Given the description of an element on the screen output the (x, y) to click on. 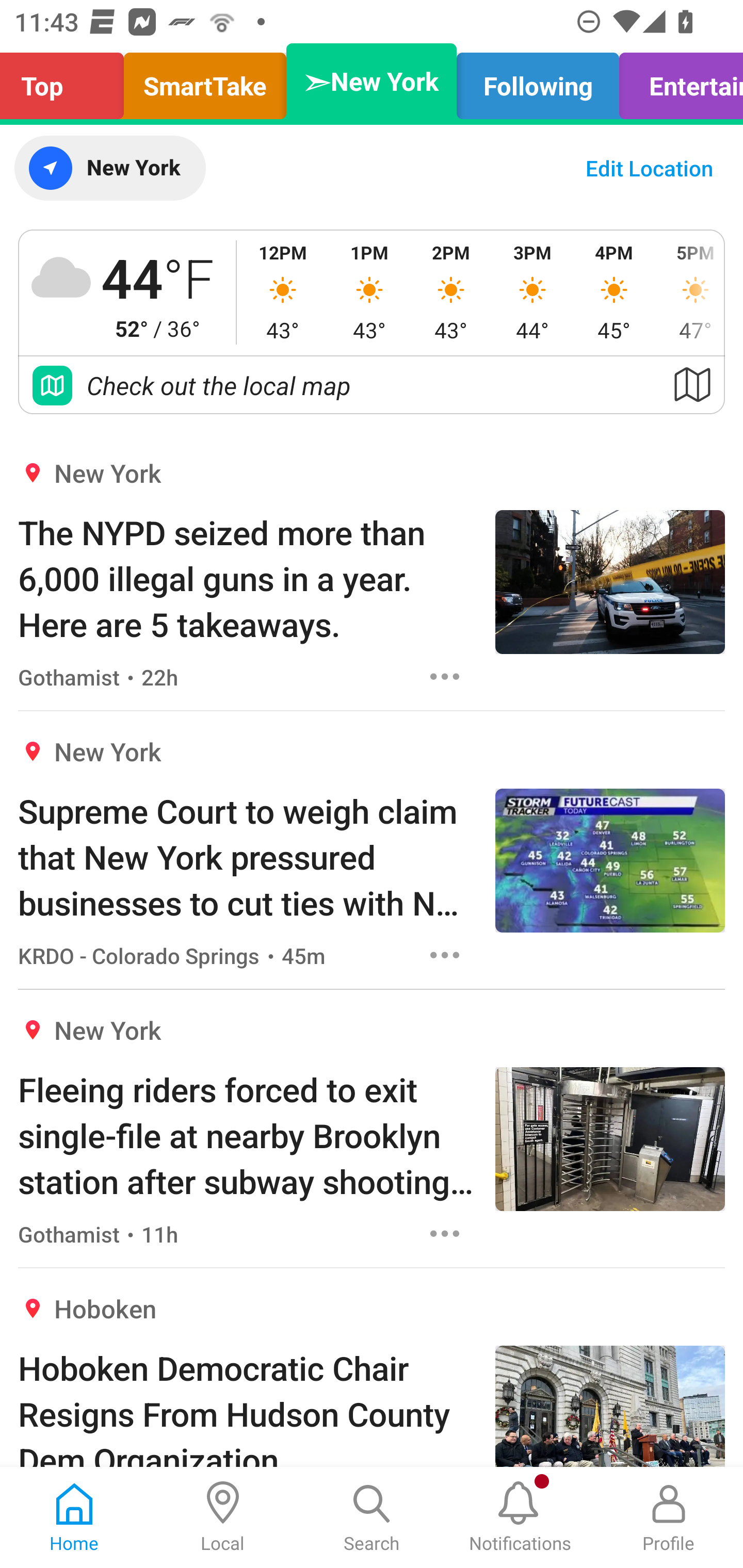
Top (67, 81)
SmartTake (204, 81)
➣New York (371, 81)
Following (537, 81)
New York (109, 168)
Edit Location (648, 168)
12PM 43° (282, 291)
1PM 43° (369, 291)
2PM 43° (450, 291)
3PM 44° (532, 291)
4PM 45° (613, 291)
5PM 47° (689, 291)
Check out the local map (371, 384)
Options (444, 676)
Options (444, 954)
Options (444, 1233)
Local (222, 1517)
Search (371, 1517)
Notifications, New notification Notifications (519, 1517)
Profile (668, 1517)
